Given the description of an element on the screen output the (x, y) to click on. 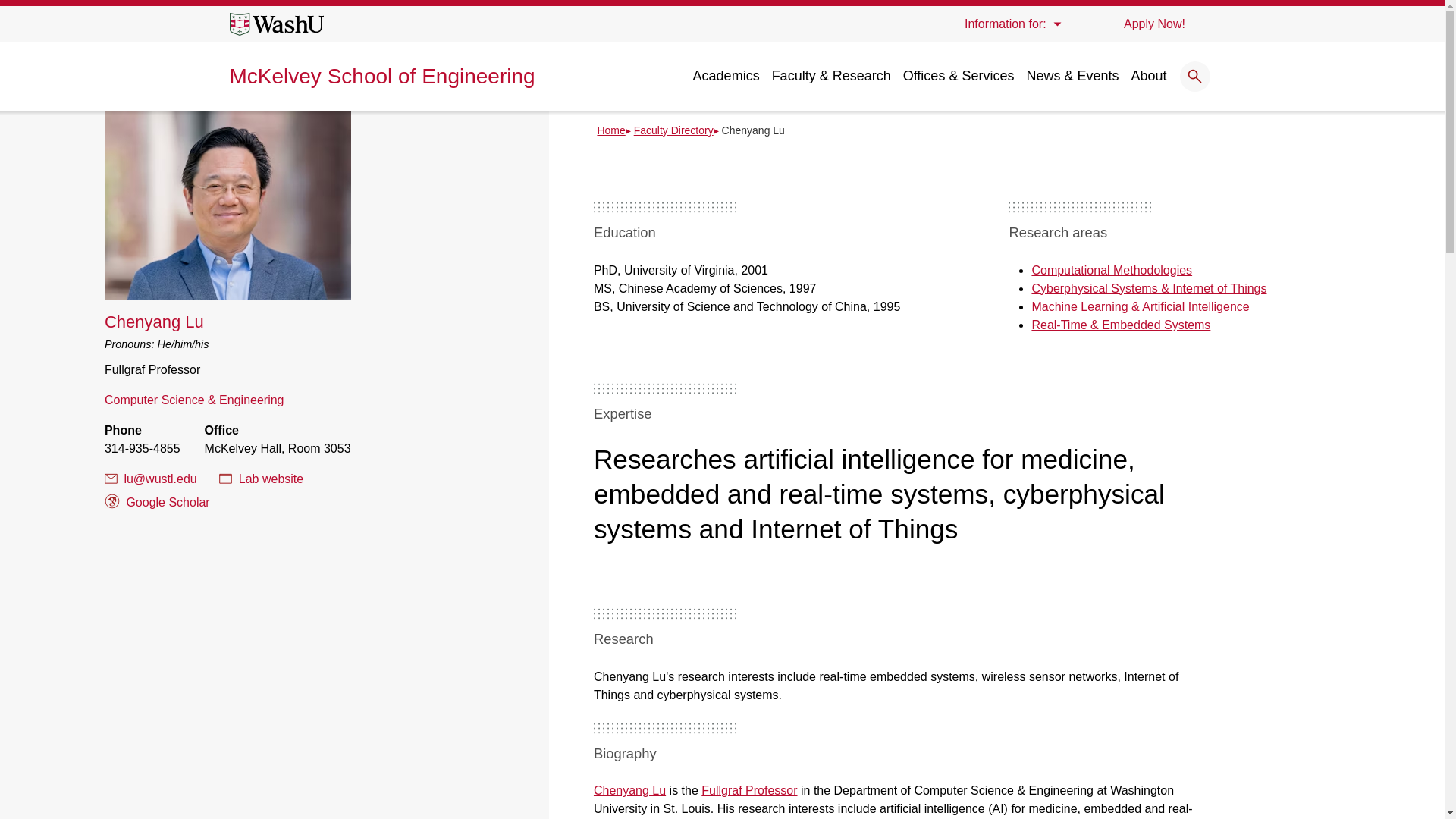
Academics (726, 76)
Apply Now! (1153, 23)
McKelvey School of Engineering (381, 75)
Information for: (1011, 23)
